Given the description of an element on the screen output the (x, y) to click on. 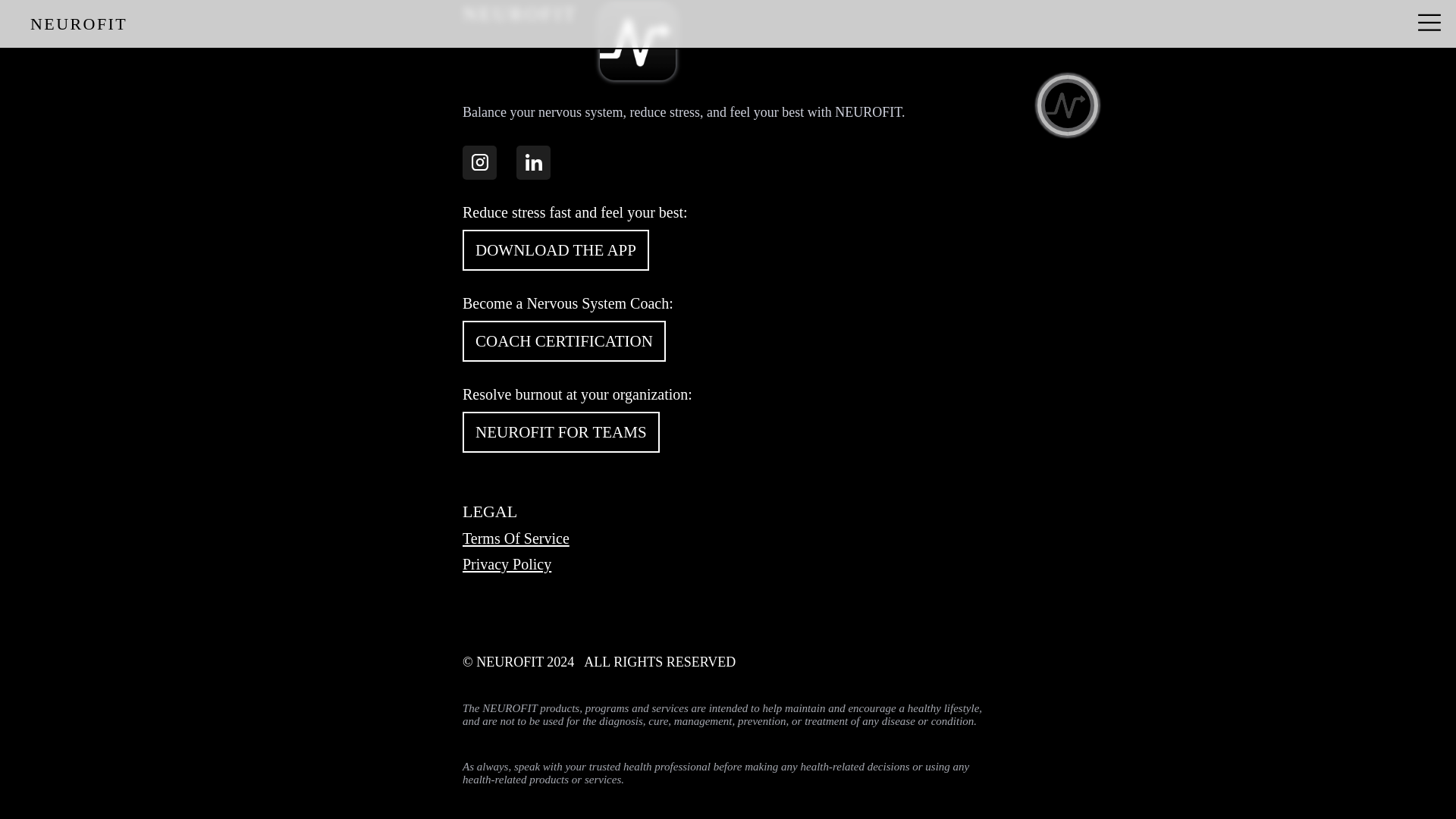
COACH CERTIFICATION (564, 341)
NEUROFIT FOR TEAMS (561, 431)
Terms Of Service (727, 538)
Privacy Policy (727, 564)
DOWNLOAD THE APP (556, 250)
